Given the description of an element on the screen output the (x, y) to click on. 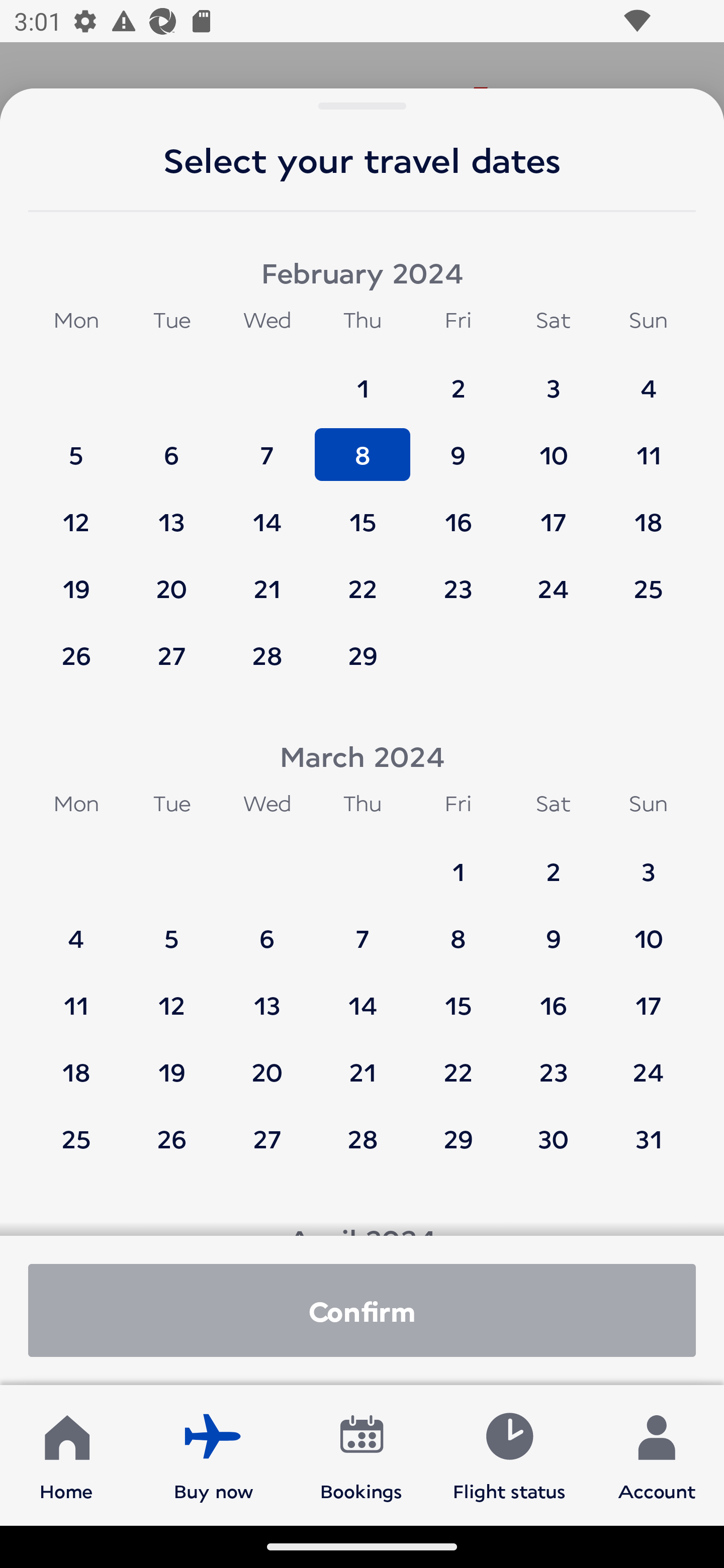
1 (362, 379)
2 (458, 379)
3 (553, 379)
4 (647, 379)
5 (75, 445)
6 (171, 445)
7 (266, 445)
8 (362, 445)
9 (458, 445)
10 (553, 445)
11 (647, 445)
12 (75, 512)
13 (171, 512)
14 (266, 512)
15 (362, 512)
16 (458, 512)
17 (553, 512)
18 (647, 512)
19 (75, 579)
20 (171, 579)
21 (266, 579)
22 (362, 579)
23 (458, 579)
24 (553, 579)
25 (647, 579)
26 (75, 655)
27 (171, 655)
28 (266, 655)
29 (362, 655)
1 (458, 862)
2 (553, 862)
3 (647, 862)
4 (75, 928)
5 (171, 928)
6 (266, 928)
7 (362, 928)
8 (458, 928)
9 (553, 928)
10 (647, 928)
11 (75, 996)
12 (171, 996)
13 (266, 996)
14 (362, 996)
15 (458, 996)
16 (553, 996)
17 (647, 996)
18 (75, 1063)
19 (171, 1063)
20 (266, 1063)
21 (362, 1063)
22 (458, 1063)
23 (553, 1063)
24 (647, 1063)
25 (75, 1138)
26 (171, 1138)
27 (266, 1138)
28 (362, 1138)
29 (458, 1138)
30 (553, 1138)
31 (647, 1138)
Confirm (361, 1309)
Home (66, 1454)
Bookings (361, 1454)
Flight status (509, 1454)
Account (657, 1454)
